Given the description of an element on the screen output the (x, y) to click on. 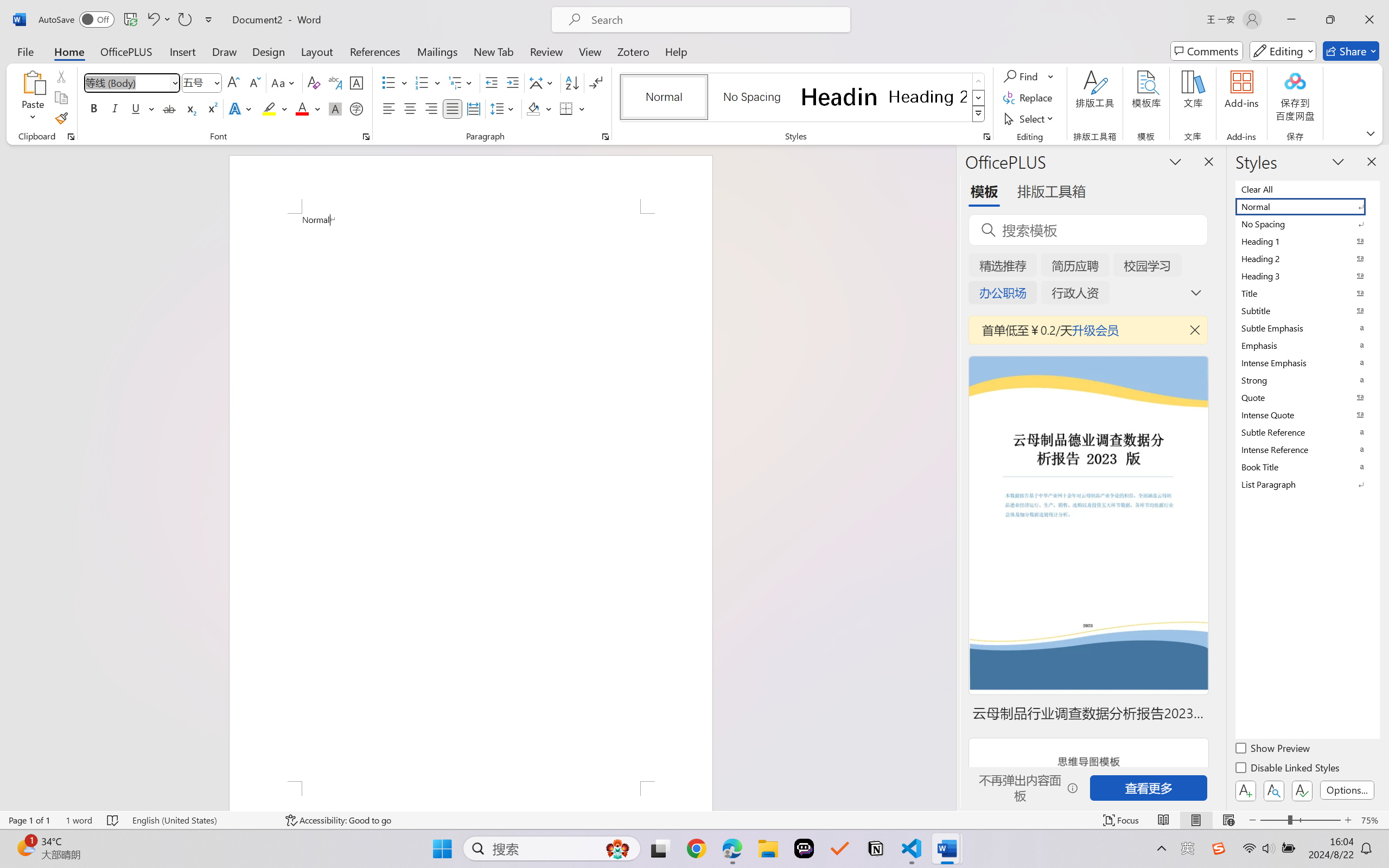
Intense Quote (1306, 414)
Change Case (284, 82)
Phonetic Guide... (334, 82)
Font (132, 82)
Sort... (571, 82)
Class: NetUIScrollBar (948, 477)
Accessibility Checker Accessibility: Good to go (338, 819)
Page Number Page 1 of 1 (29, 819)
Font Size (196, 82)
Design (268, 51)
Strong (1306, 379)
